Given the description of an element on the screen output the (x, y) to click on. 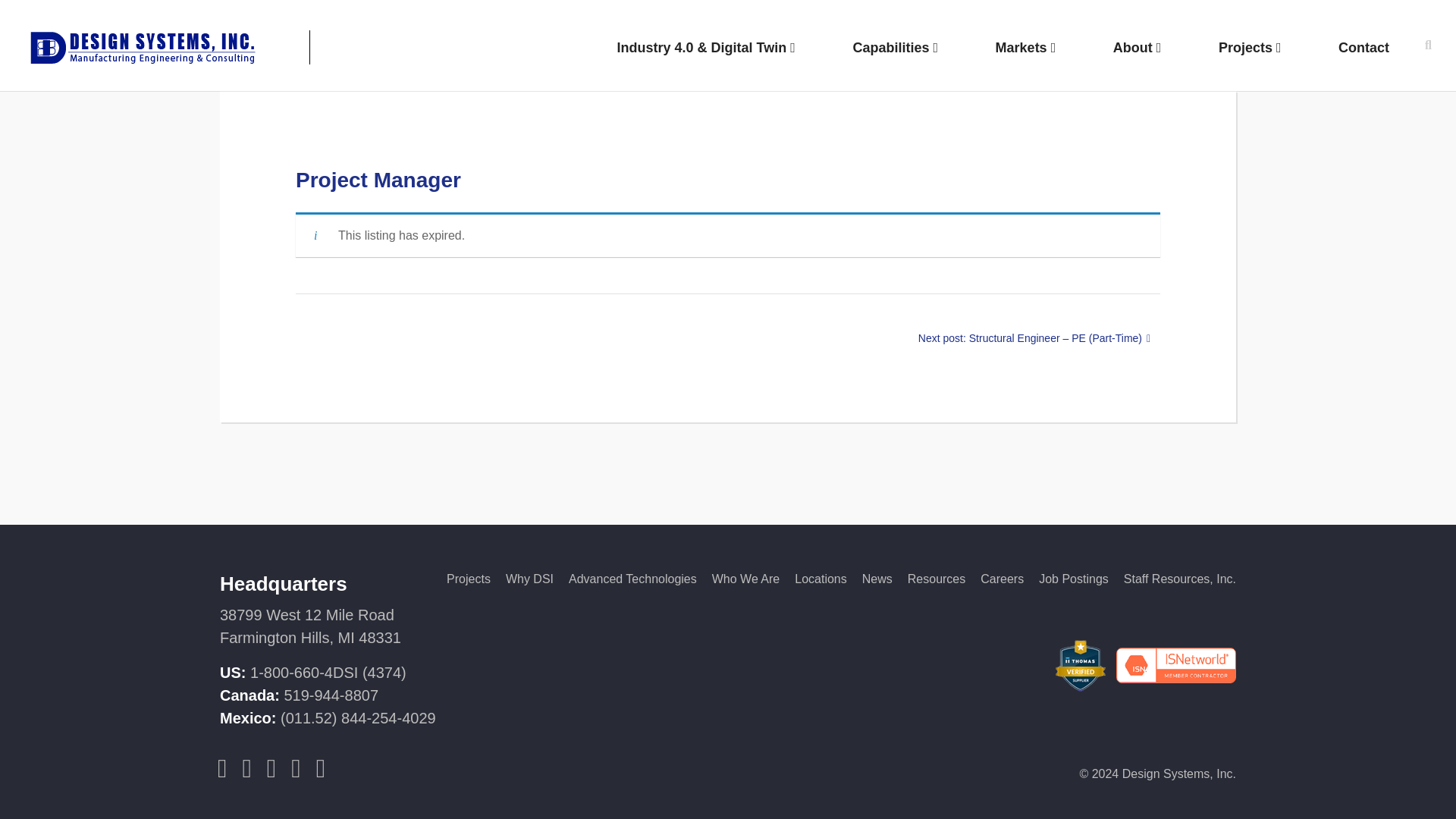
About (1137, 48)
Projects (1249, 48)
Markets (1026, 48)
Contact (1363, 48)
Capabilities (894, 48)
